Given the description of an element on the screen output the (x, y) to click on. 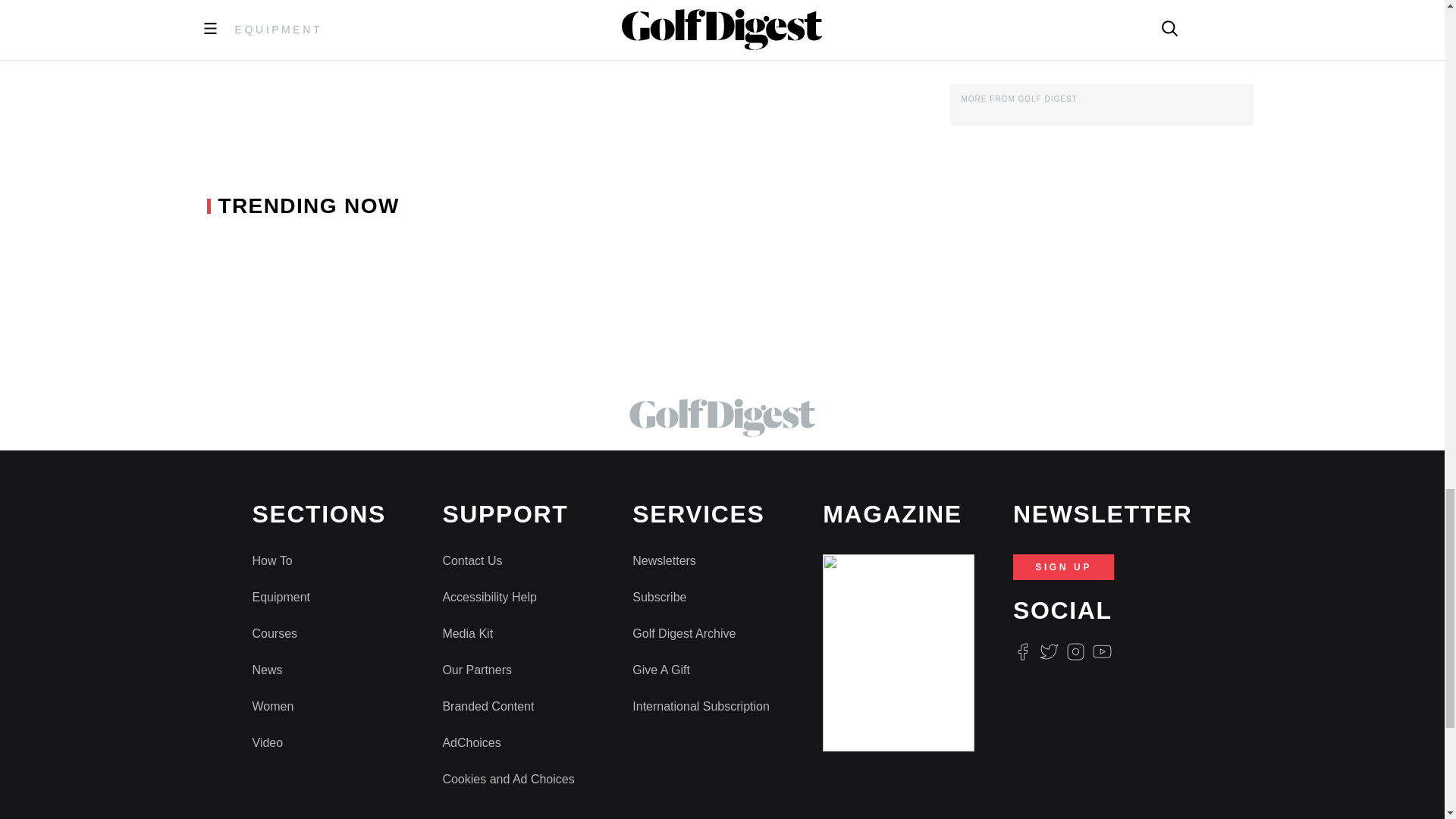
Youtube Icon (1102, 651)
Share on Twitter (472, 36)
Share on LinkedIn (506, 36)
Twitter Logo (1048, 651)
Share on Facebook (432, 36)
Facebook Logo (1022, 651)
Instagram Logo (1074, 651)
